Given the description of an element on the screen output the (x, y) to click on. 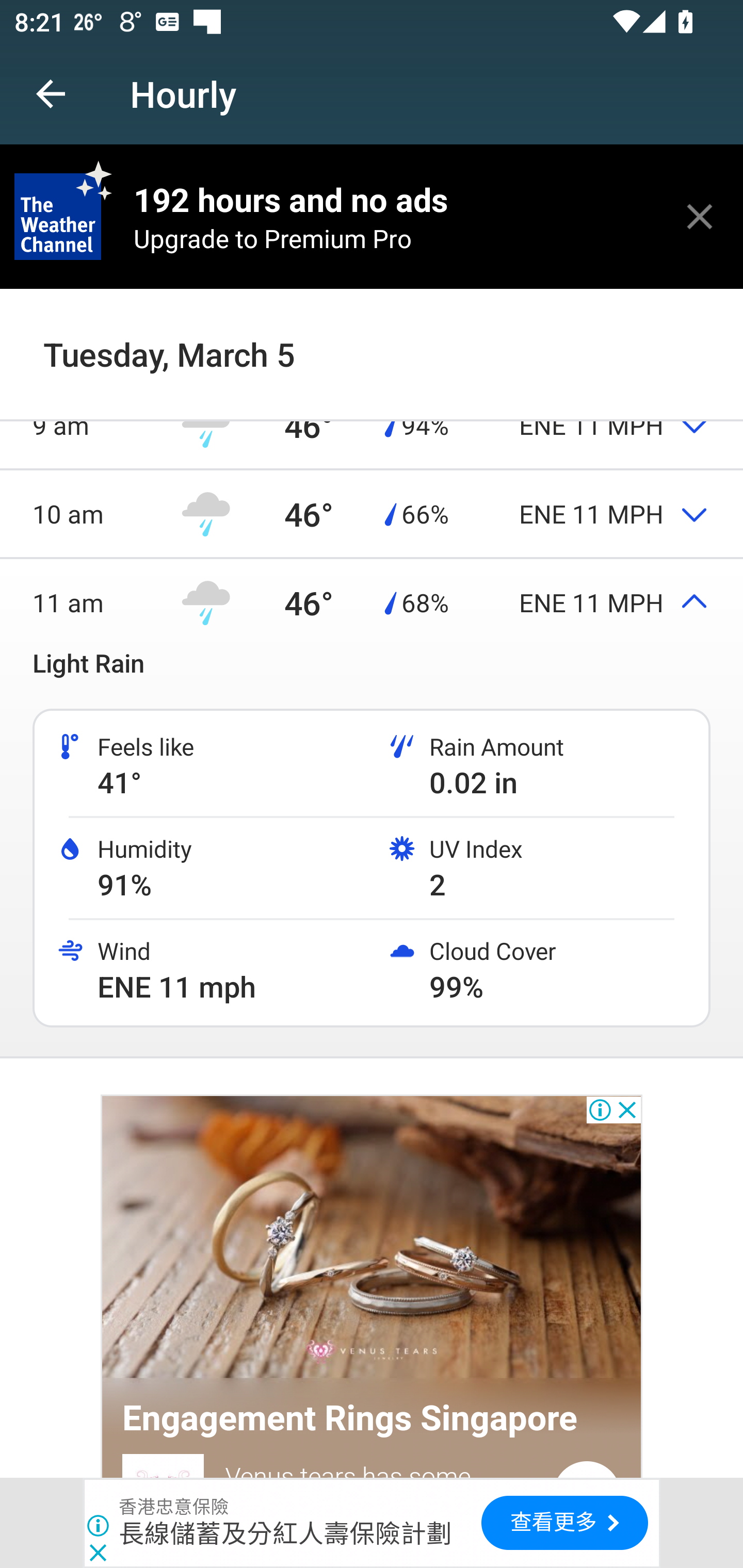
Navigate up (50, 93)
close this (699, 216)
8 am 46° 100% ENE 10 MPH (371, 336)
9 am 46° 94% ENE 11 MPH (371, 424)
10 am 46° 66% ENE 11 MPH (371, 513)
11 am 46° 68% ENE 11 MPH (371, 602)
venus-tears (371, 1239)
Engagement Rings Singapore (349, 1418)
香港忠意保險 (174, 1507)
查看更多 (564, 1522)
長線儲蓄及分紅人壽保險計劃 (285, 1533)
